Given the description of an element on the screen output the (x, y) to click on. 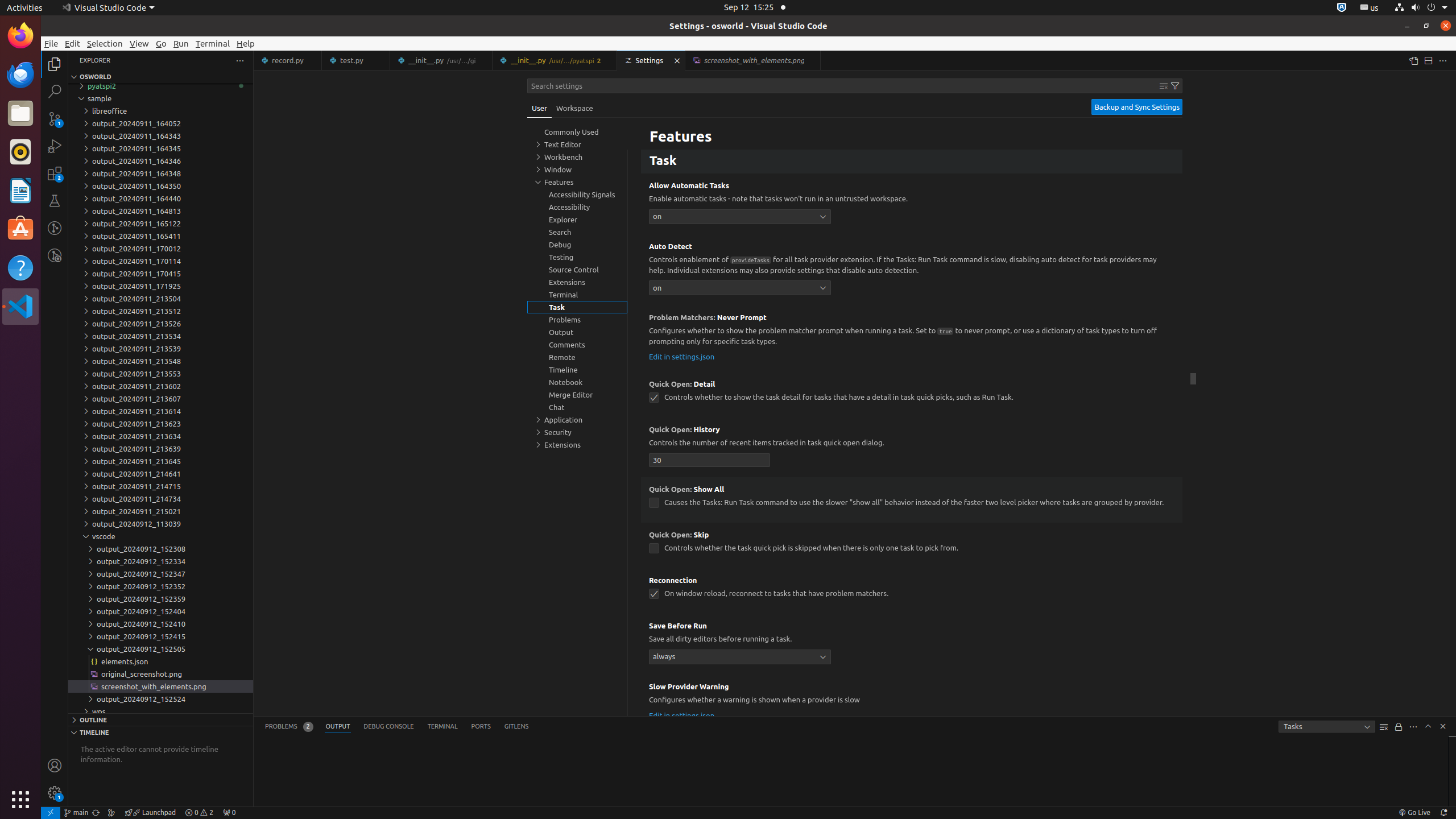
output_20240911_164348 Element type: tree-item (160, 173)
Task, group Element type: tree-item (577, 306)
Features, group Element type: tree-item (577, 181)
output_20240911_214734 Element type: tree-item (160, 498)
Terminal, group Element type: tree-item (577, 294)
